Given the description of an element on the screen output the (x, y) to click on. 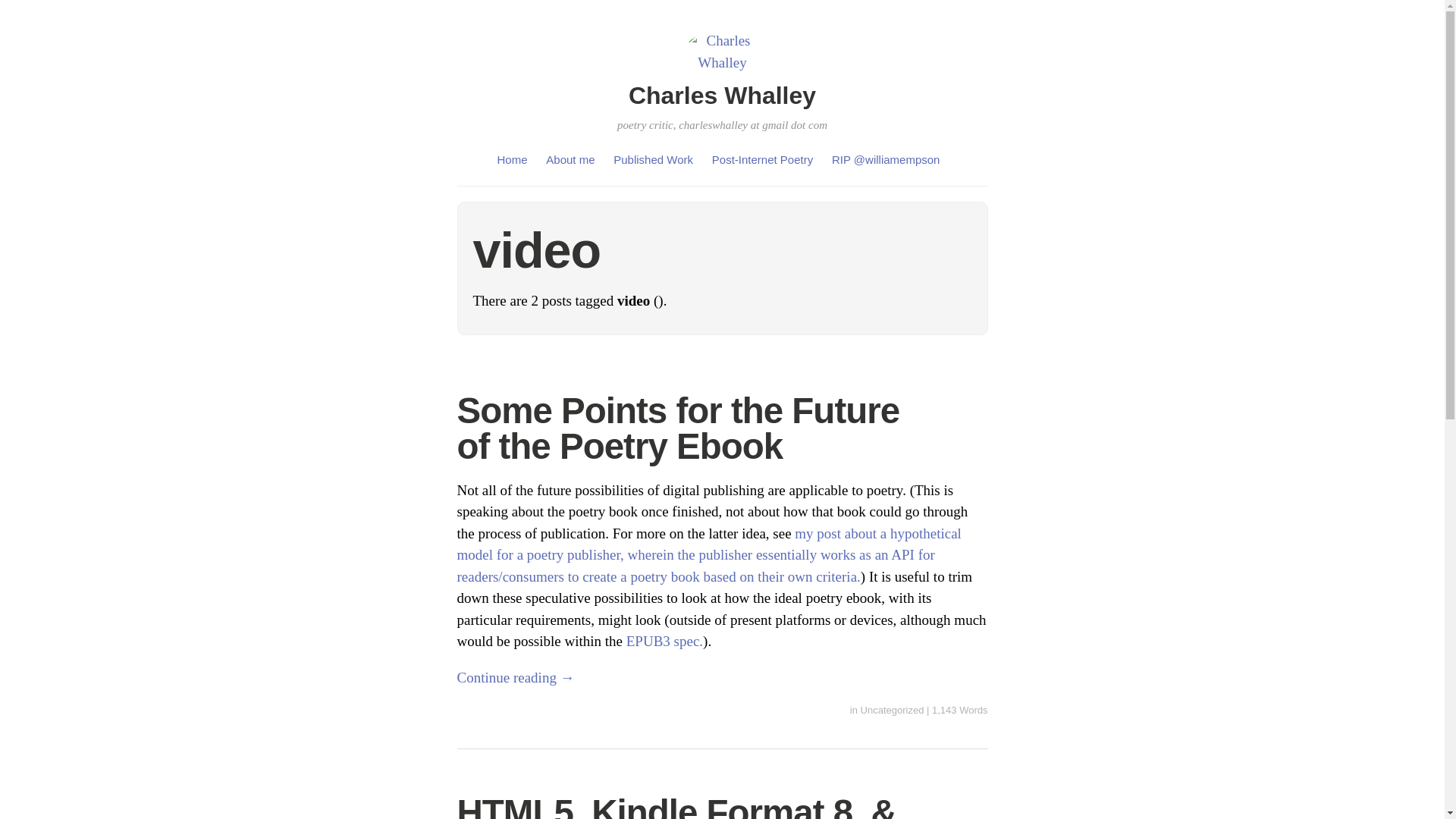
About me (570, 159)
Search (29, 13)
Uncategorized (892, 709)
Home (512, 159)
EPUB3 spec. (664, 641)
Published Work (652, 159)
Charles Whalley (722, 62)
A Hypothetical Model for a Database-driven Poetry Publisher (708, 554)
Permalink to Some Points for the Future of the Poetry Ebook (678, 428)
Charles Whalley (721, 94)
Some Points for the Future of the Poetry Ebook (678, 428)
Charles Whalley (721, 94)
Post-Internet Poetry (761, 159)
